Given the description of an element on the screen output the (x, y) to click on. 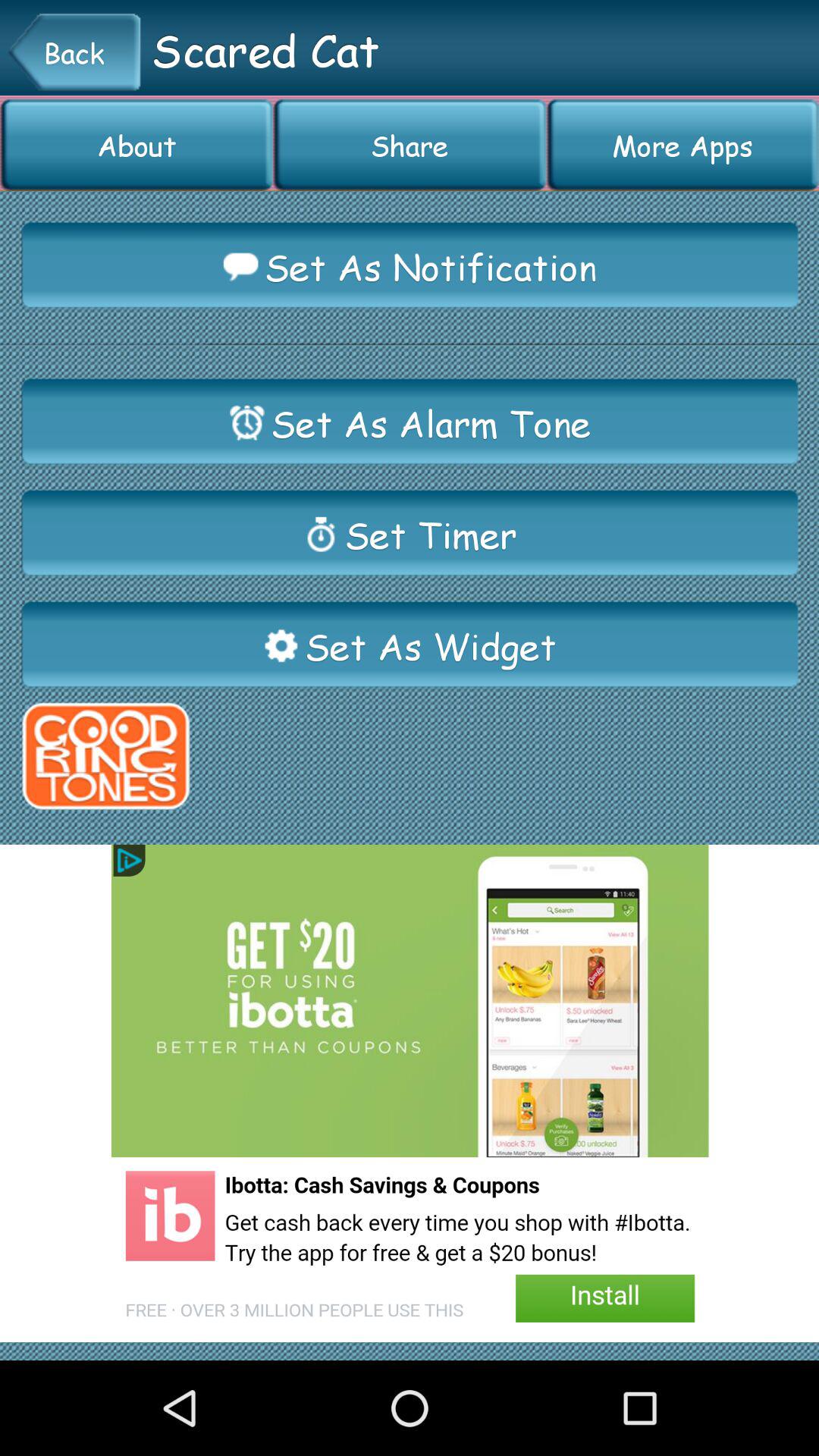
click the settings button on the web page (280, 645)
click the logo below the settings button on the web page (105, 755)
select the icon to the left of set as notification (240, 265)
